Given the description of an element on the screen output the (x, y) to click on. 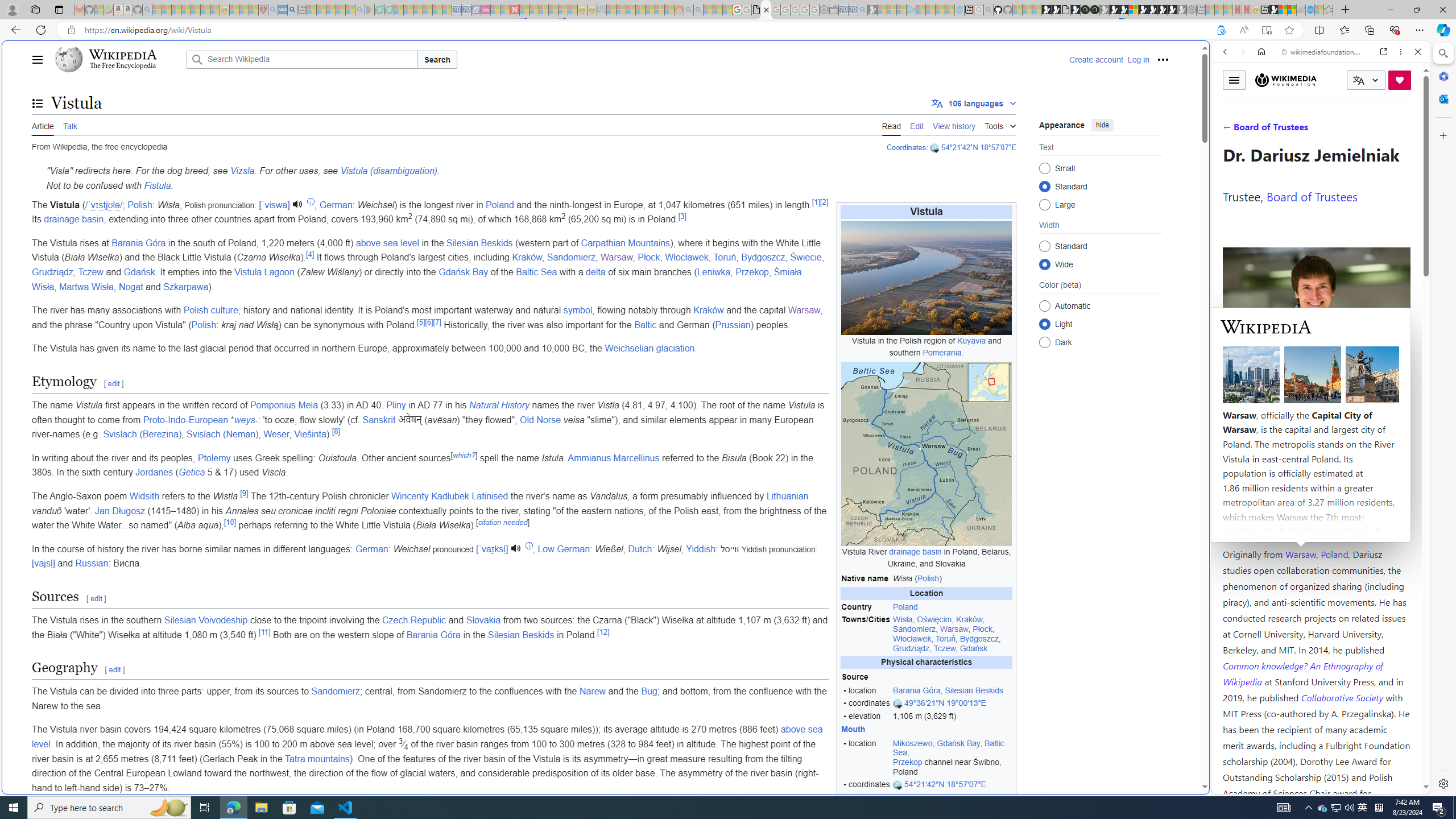
Personal tools (1162, 59)
Search Filter, VIDEOS (1300, 129)
Mouth (853, 729)
Czech Republic (413, 620)
Warsaw (1300, 554)
symbol (577, 310)
MSN (1118, 536)
google_privacy_policy_zh-CN.pdf (755, 9)
[6] (429, 321)
Play Free Online Games | Games from Microsoft Start (1151, 9)
The Free Encyclopedia (121, 65)
